Given the description of an element on the screen output the (x, y) to click on. 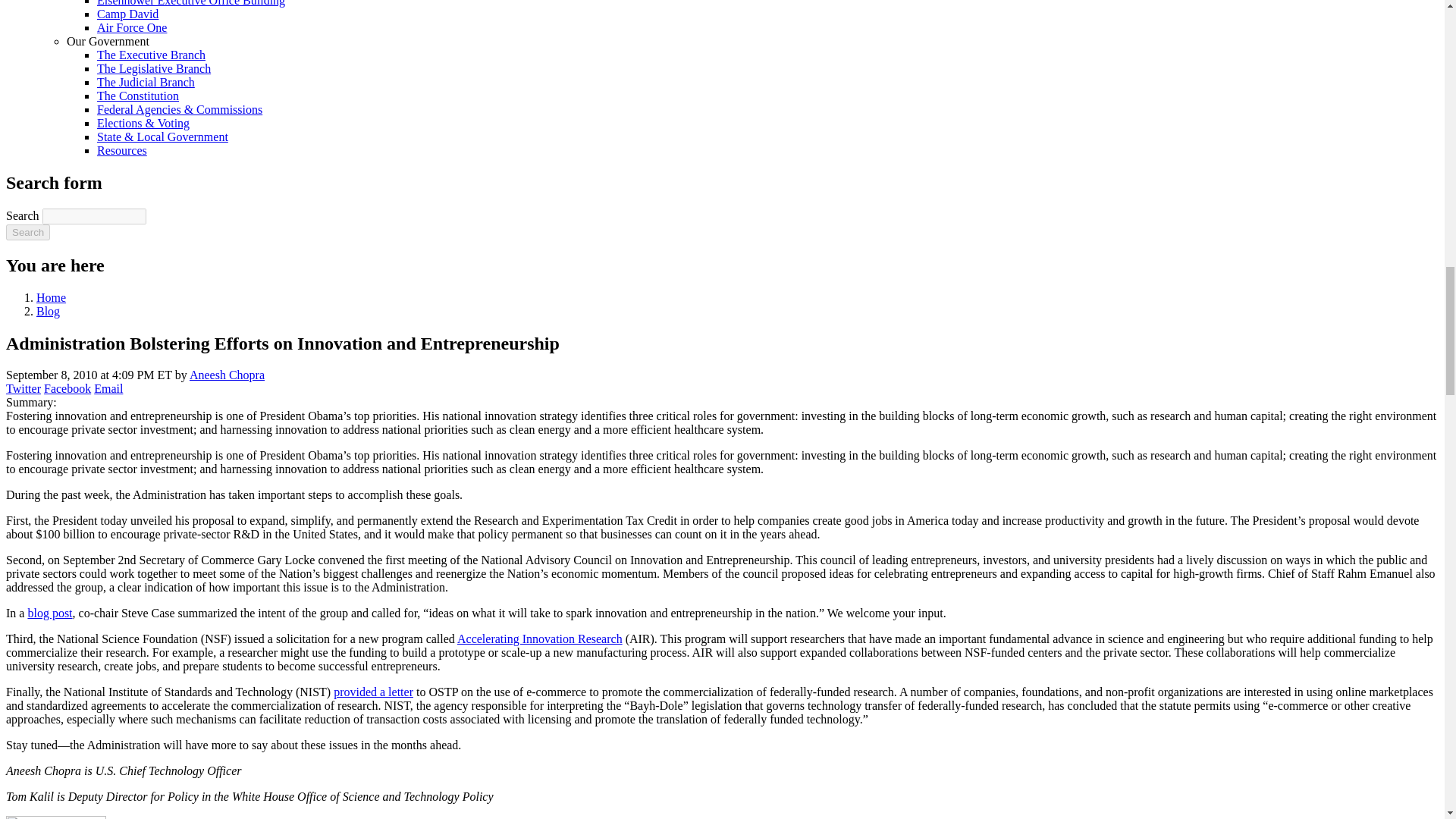
Search (27, 232)
Twitter (22, 388)
Email (108, 388)
Enter the terms you wish to search for. (94, 216)
Facebook (66, 388)
